Given the description of an element on the screen output the (x, y) to click on. 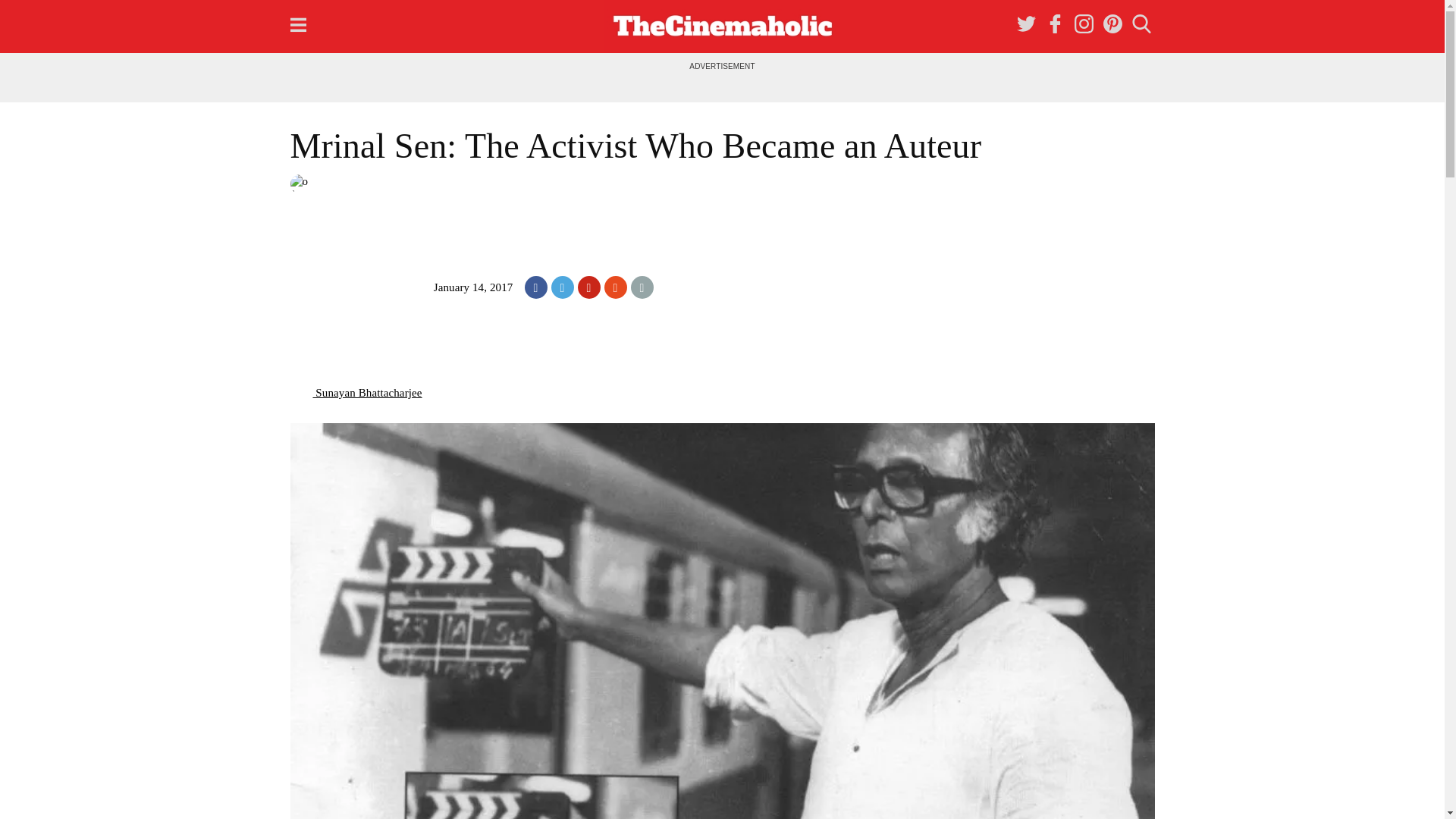
Sunayan Bhattacharjee (355, 392)
